Given the description of an element on the screen output the (x, y) to click on. 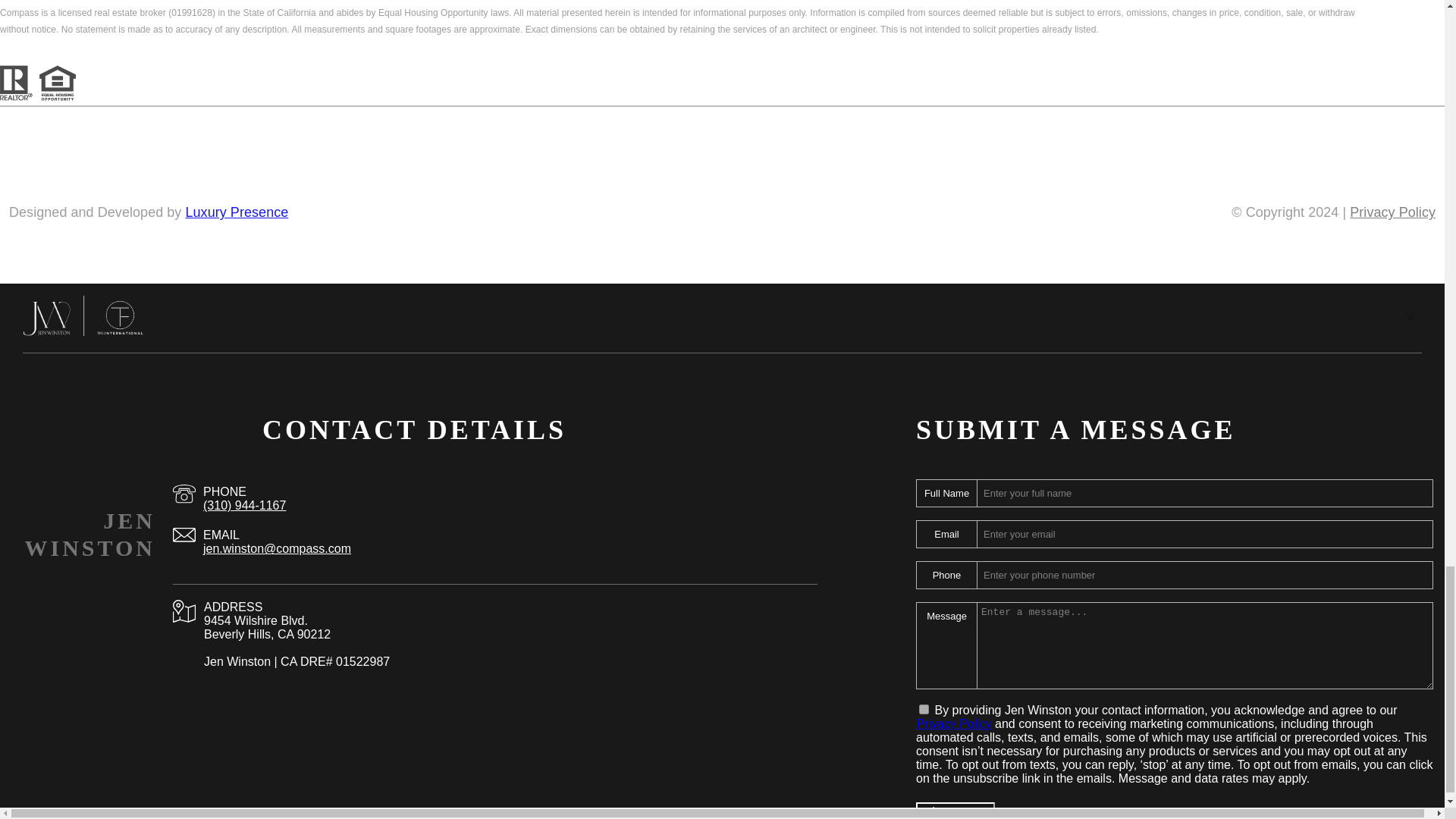
on (923, 709)
